Given the description of an element on the screen output the (x, y) to click on. 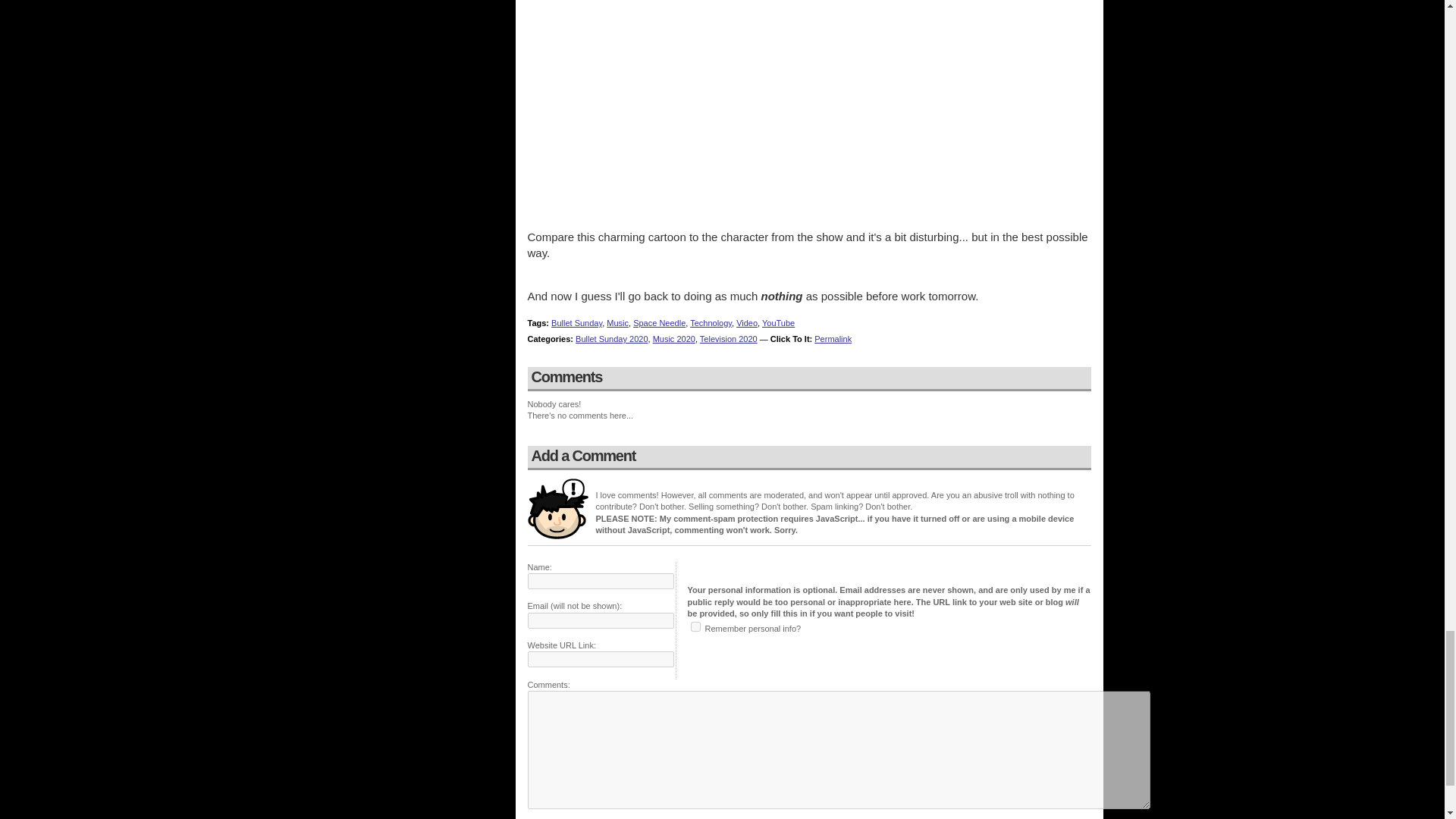
YouTube (777, 322)
Music 2020 (673, 338)
Bullet Sunday 2020 (611, 338)
Music (617, 322)
Television 2020 (728, 338)
1 (695, 626)
Technology (711, 322)
Space Needle (659, 322)
Video (746, 322)
Bullet Sunday (576, 322)
